Given the description of an element on the screen output the (x, y) to click on. 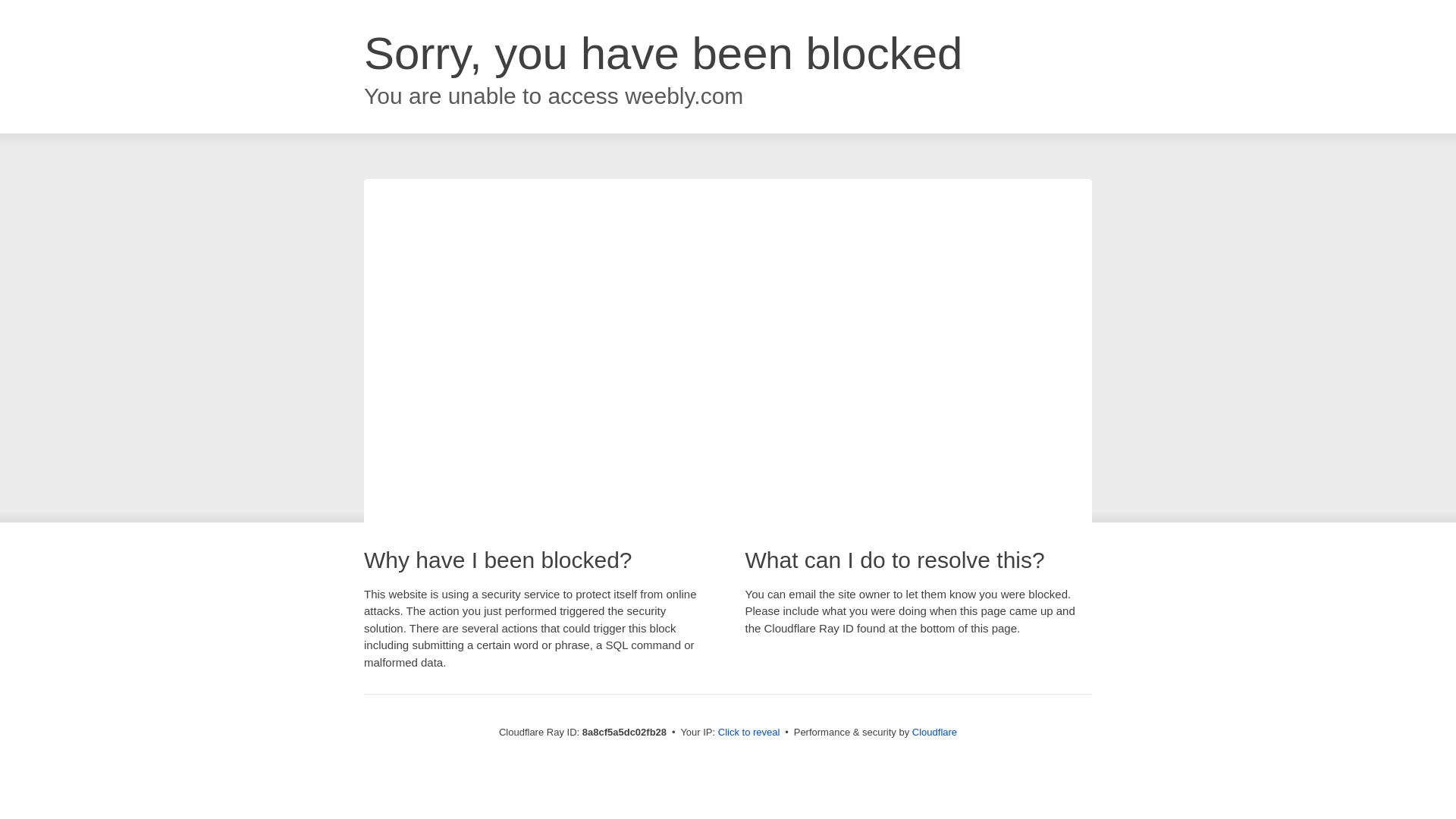
Click to reveal (748, 732)
Cloudflare (934, 731)
